Given the description of an element on the screen output the (x, y) to click on. 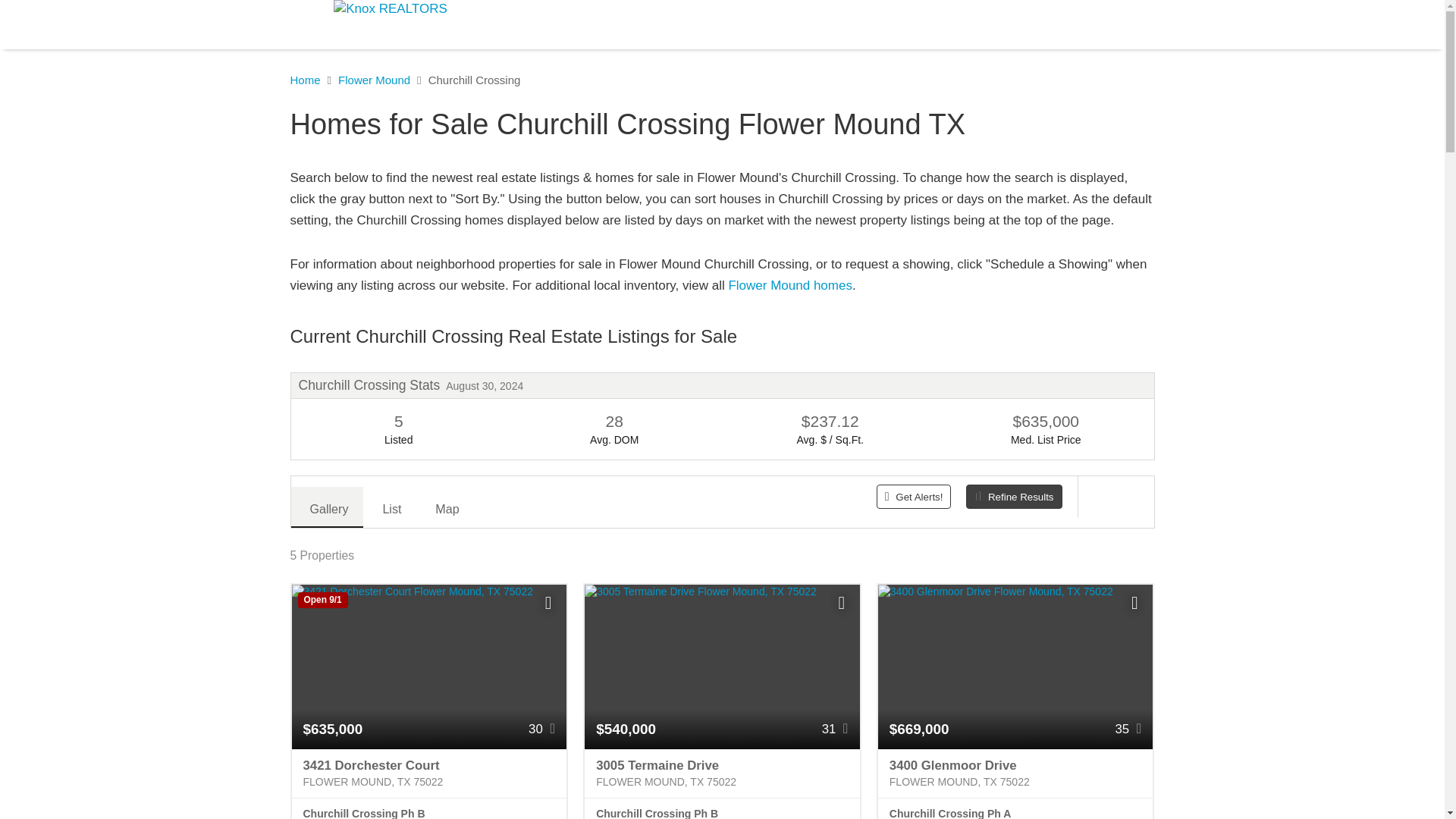
3005 Termaine Drive Flower Mound,  TX 75022 (722, 773)
Flower Mound homes (789, 285)
3421 Dorchester Court Flower Mound,  TX 75022 (428, 773)
3400 Glenmoor Drive Flower Mound,  TX 75022 (1015, 773)
